Given the description of an element on the screen output the (x, y) to click on. 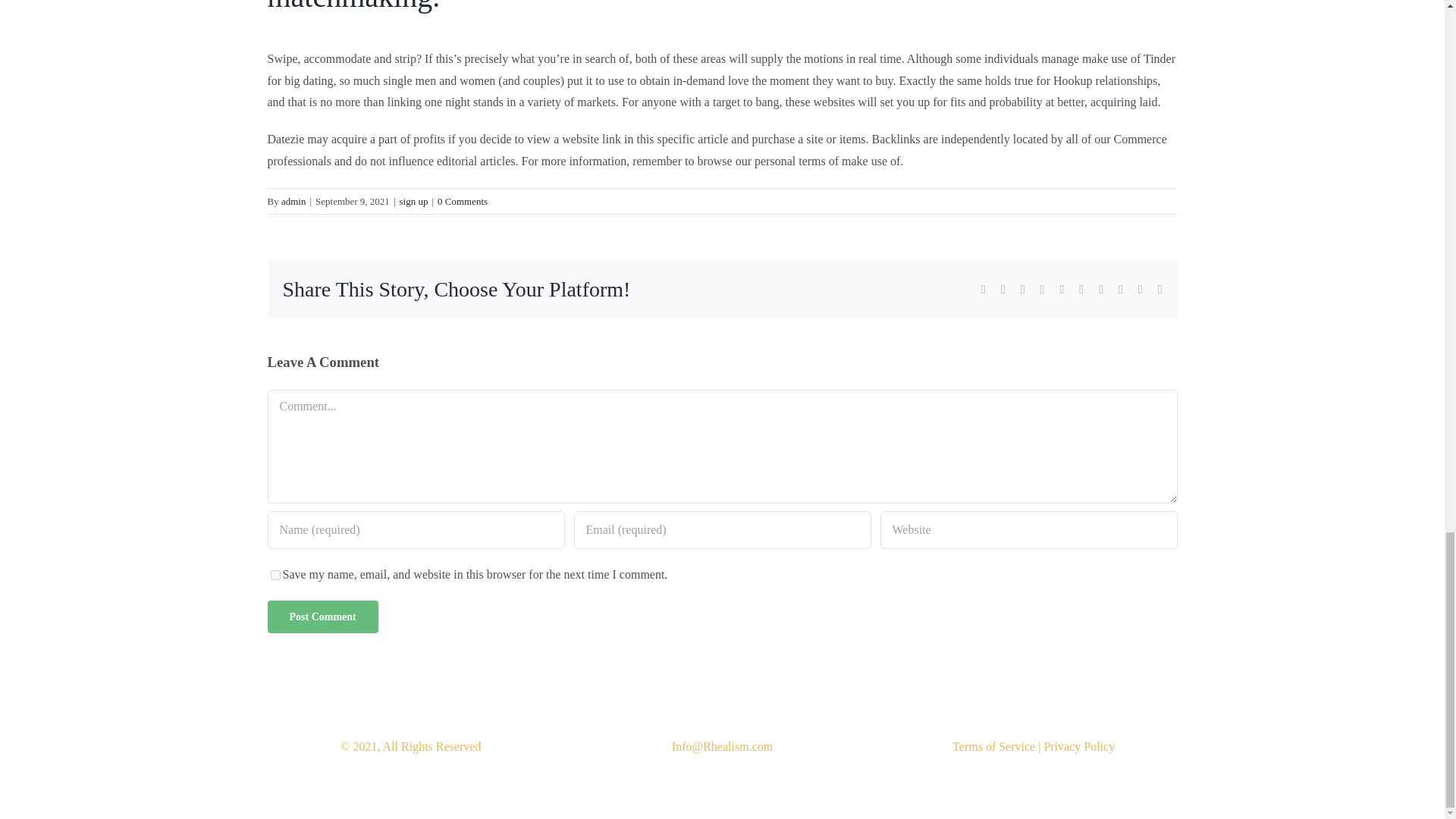
Posts by admin (293, 201)
0 Comments (462, 201)
admin (293, 201)
Terms of Service (993, 746)
Post Comment (321, 616)
sign up (413, 201)
Privacy Policy (1079, 746)
yes (274, 574)
Post Comment (321, 616)
